Given the description of an element on the screen output the (x, y) to click on. 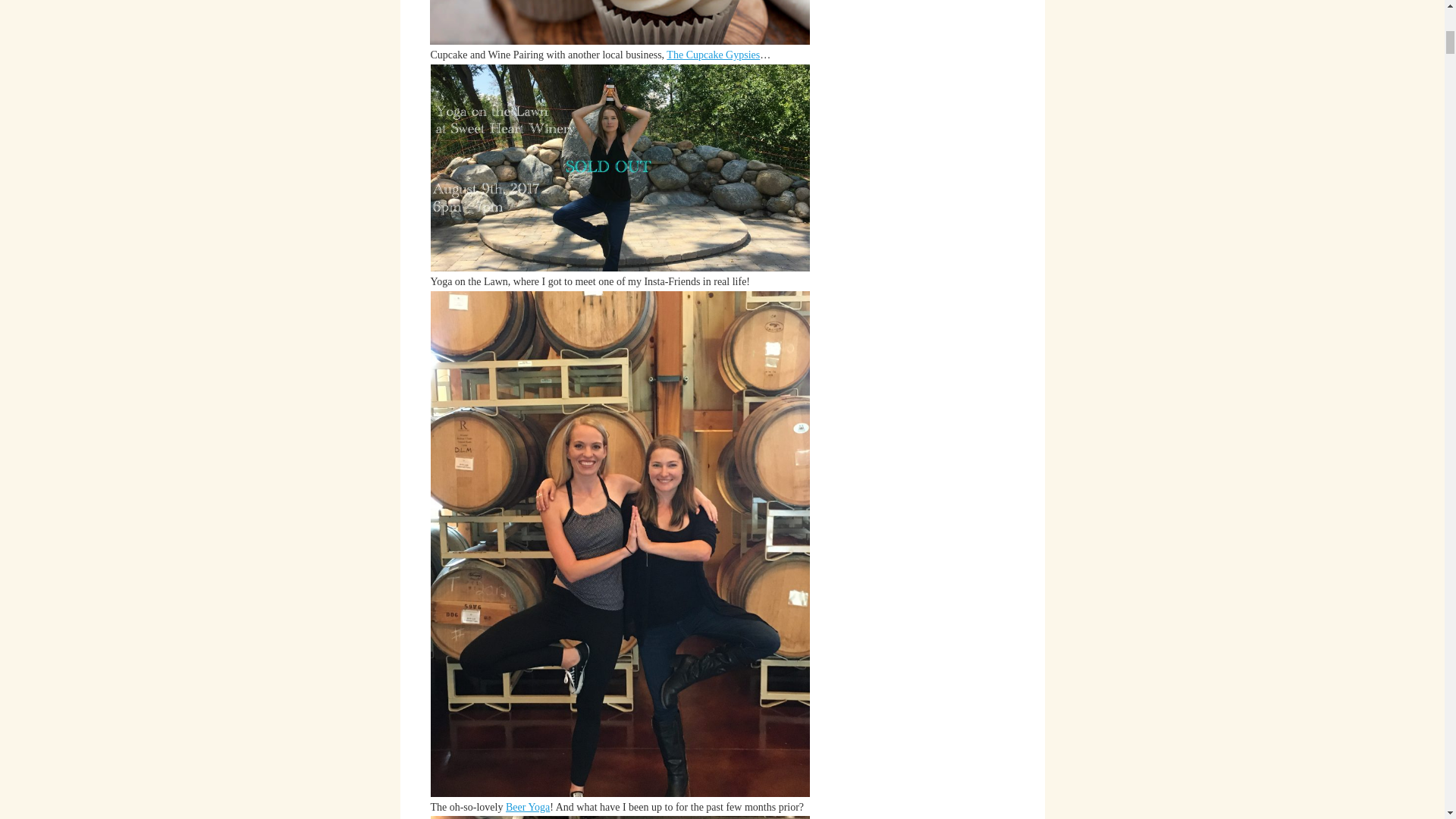
The Cupcake Gypsies (713, 54)
Beer Yoga (527, 806)
